Given the description of an element on the screen output the (x, y) to click on. 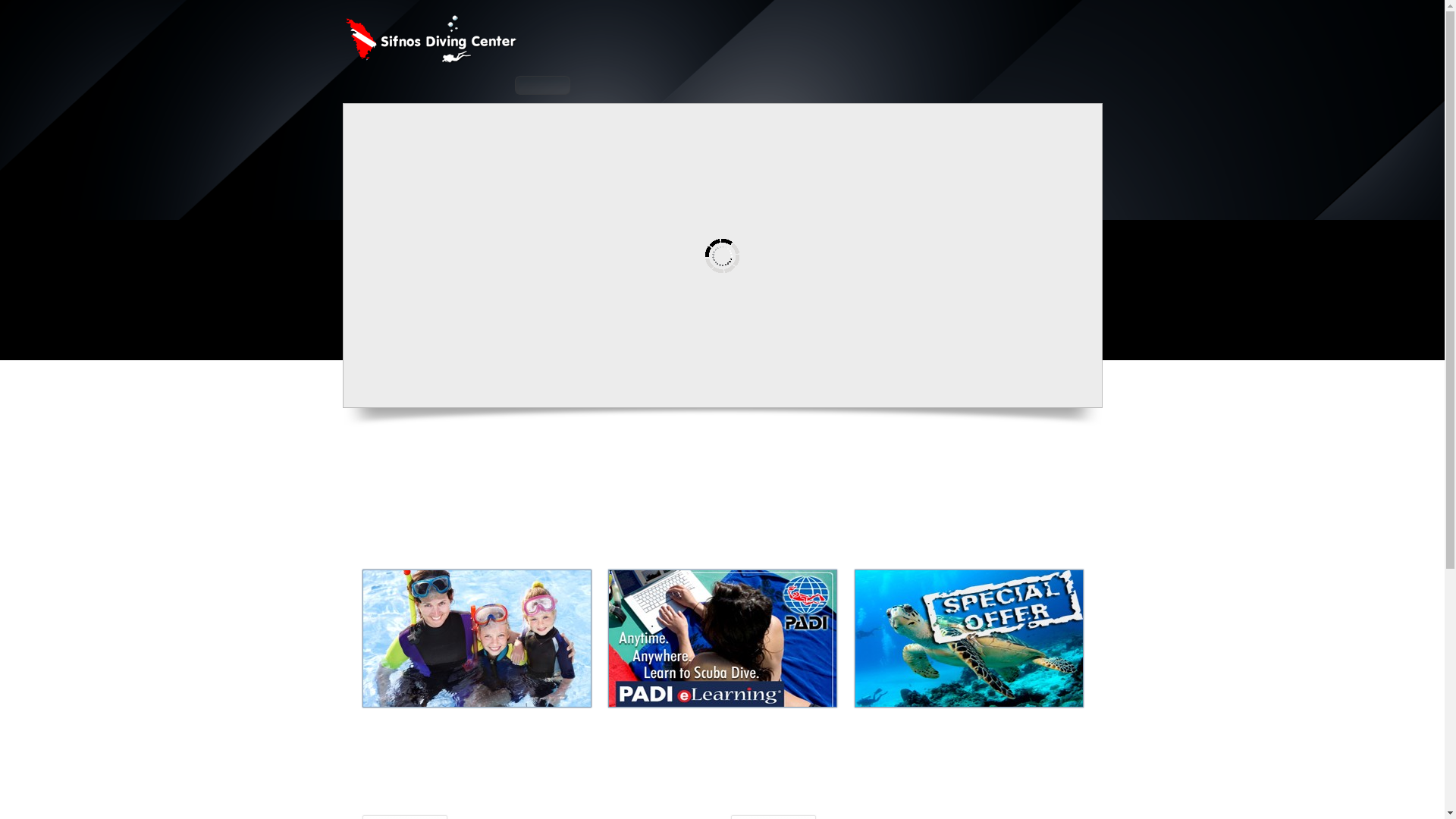
Read More... (521, 665)
 Read more (697, 649)
Whatch A Center Alignment Page (521, 665)
Read more (697, 649)
